Given the description of an element on the screen output the (x, y) to click on. 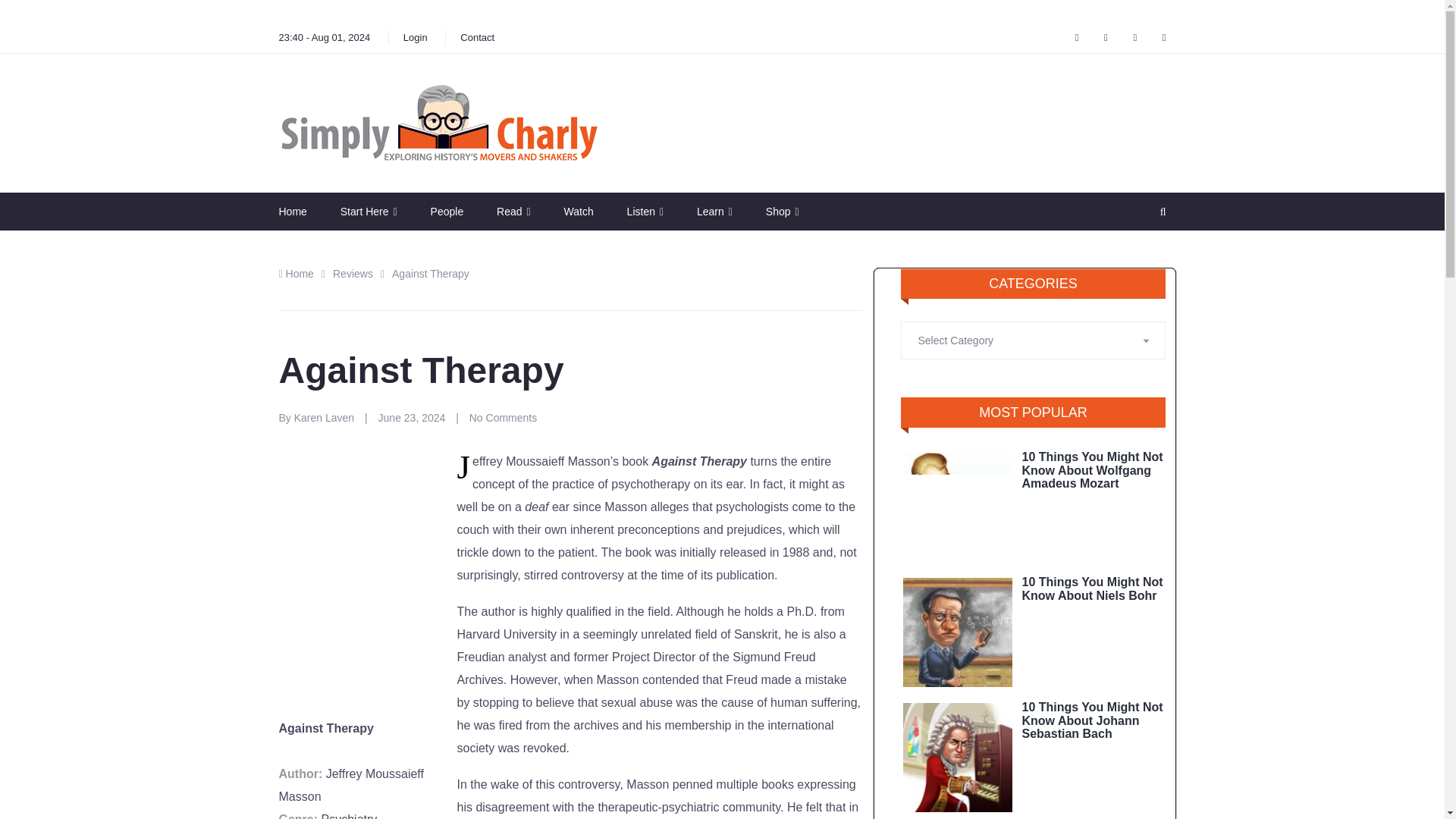
Listen (645, 211)
Reviews (352, 273)
Read (513, 211)
Karen Laven (325, 417)
Start Here (368, 211)
Contact (477, 37)
23:40 - Aug 01, 2024 (324, 37)
Learn (714, 211)
Login (415, 37)
Listen (645, 211)
Learn (714, 211)
Home (296, 273)
Read (513, 211)
23:40 - Aug 01, 2024 (324, 37)
Start Here (368, 211)
